Given the description of an element on the screen output the (x, y) to click on. 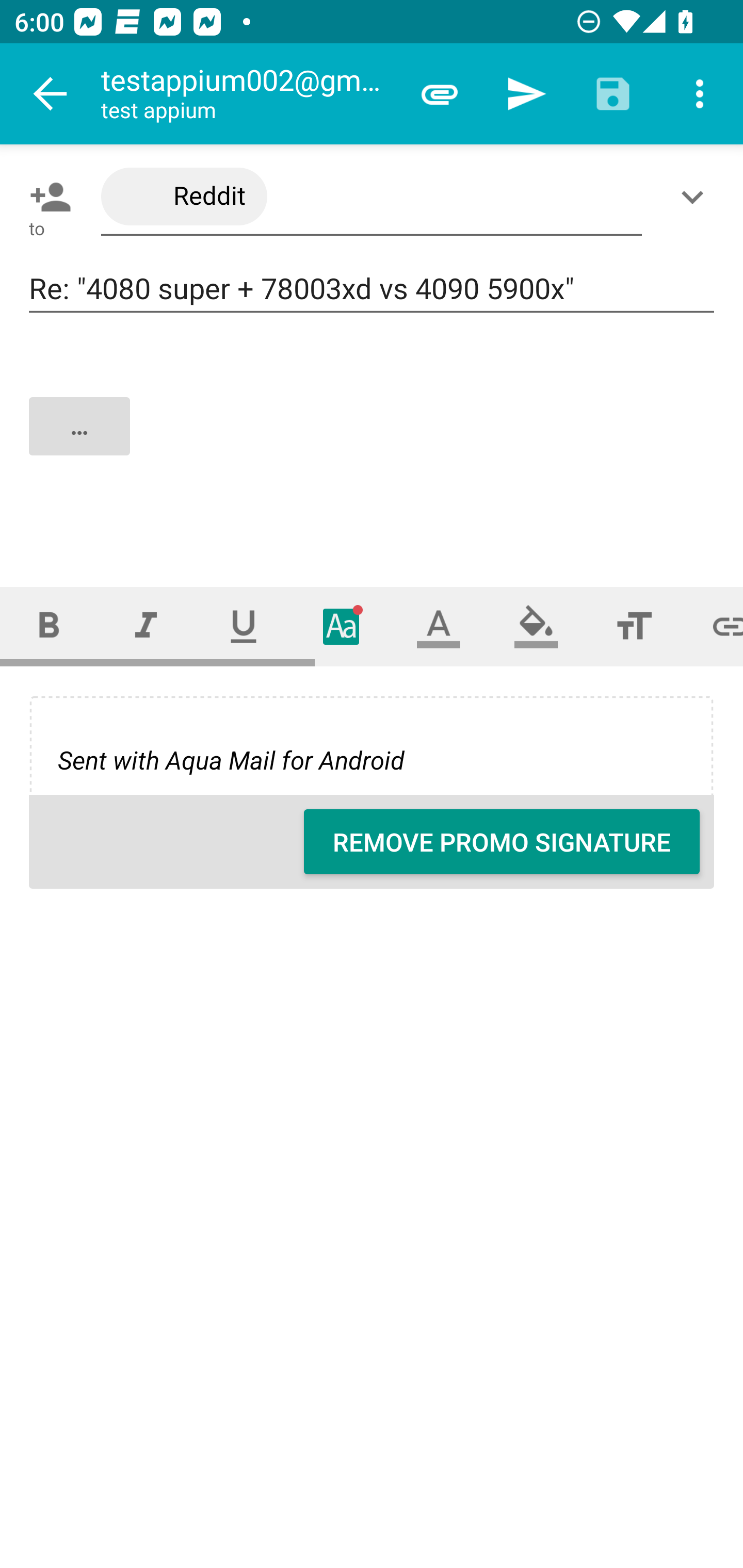
Navigate up (50, 93)
testappium002@gmail.com test appium (248, 93)
Attach (439, 93)
Send (525, 93)
Save (612, 93)
More options (699, 93)
Reddit <noreply@redditmail.com>,  (371, 197)
Pick contact: To (46, 196)
Show/Add CC/BCC (696, 196)
Re: "4080 super + 78003xd vs 4090 5900x" (371, 288)

…
 (372, 442)
Bold (48, 626)
Italic (145, 626)
Underline (243, 626)
Typeface (font) (341, 626)
Text color (438, 626)
Fill color (536, 626)
Font size (633, 626)
Set link (712, 626)
REMOVE PROMO SIGNATURE (501, 841)
